Given the description of an element on the screen output the (x, y) to click on. 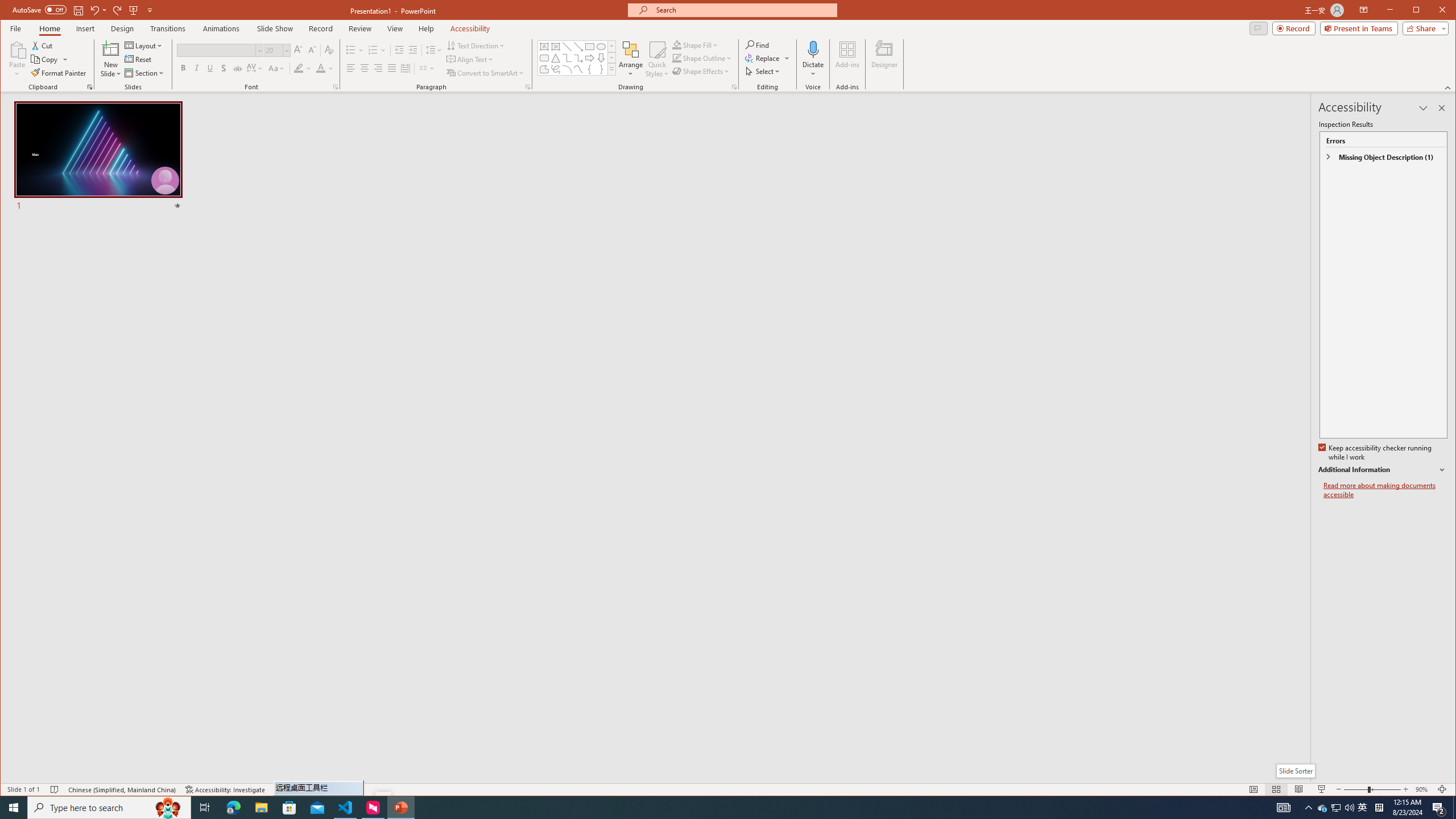
Curve (577, 69)
